Given the description of an element on the screen output the (x, y) to click on. 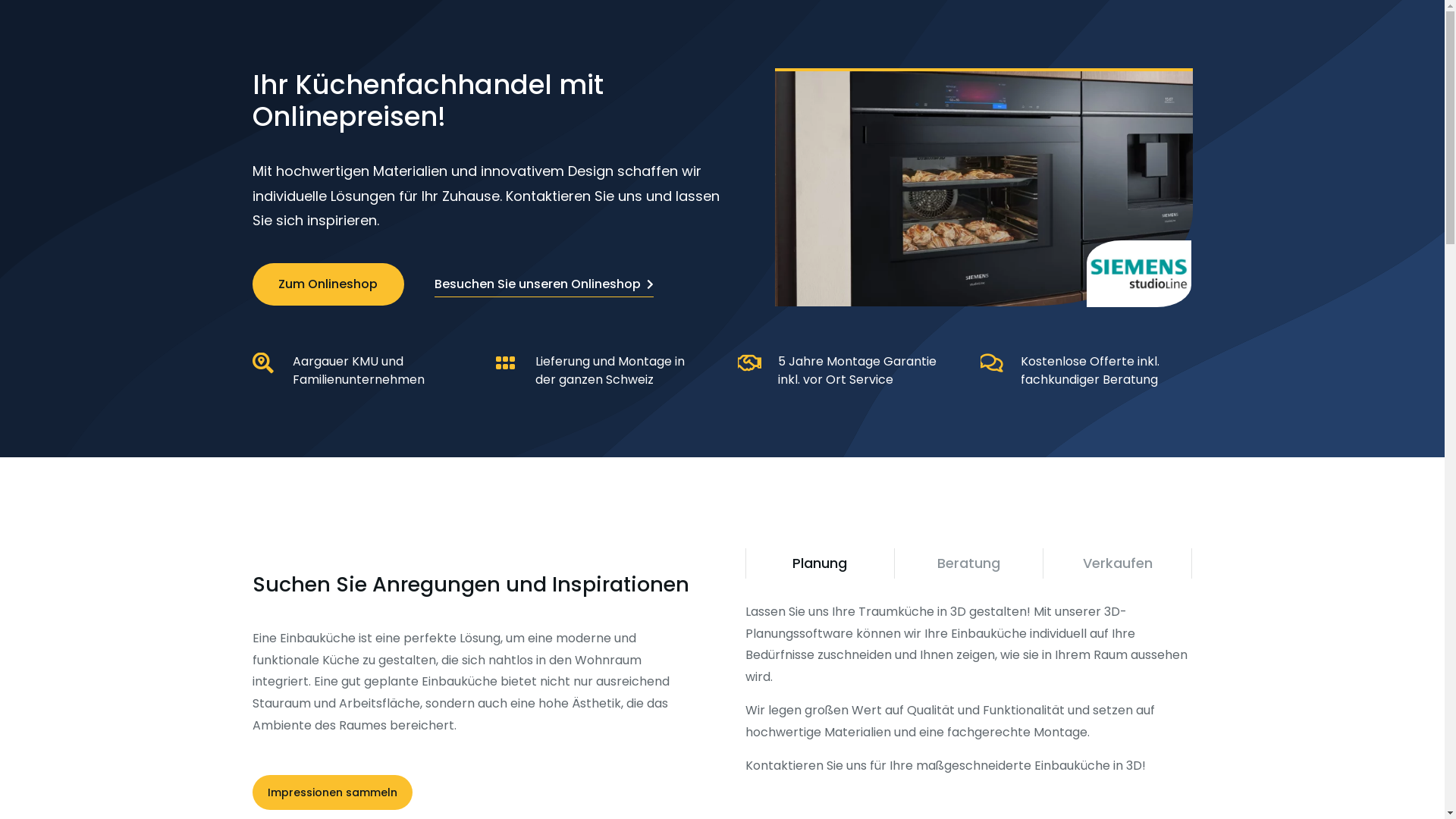
Kostenlose Offerte inkl. fachkundiger Beratung Element type: text (1089, 370)
Zum Onlineshop Element type: text (327, 284)
Lieferung und Montage in der ganzen Schweiz Element type: text (609, 370)
Impressionen sammeln Element type: text (331, 792)
Aargauer KMU und Familienunternehmen Element type: text (358, 370)
5 Jahre Montage Garantie inkl. vor Ort Service Element type: text (857, 370)
Besuchen Sie unseren Onlineshop Element type: text (542, 284)
